Given the description of an element on the screen output the (x, y) to click on. 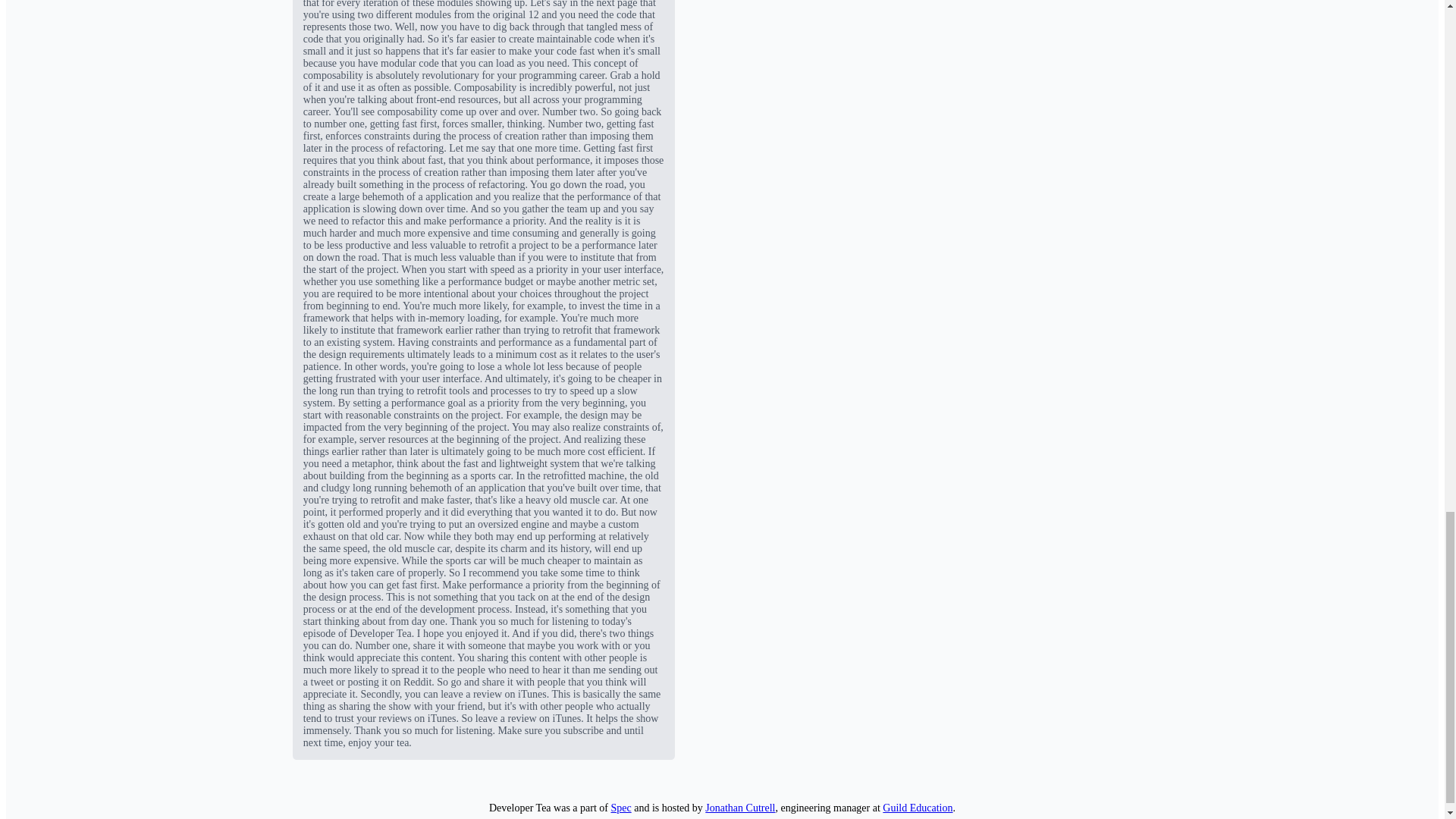
Guild Education (917, 808)
Jonathan Cutrell (739, 808)
Spec (620, 808)
